Given the description of an element on the screen output the (x, y) to click on. 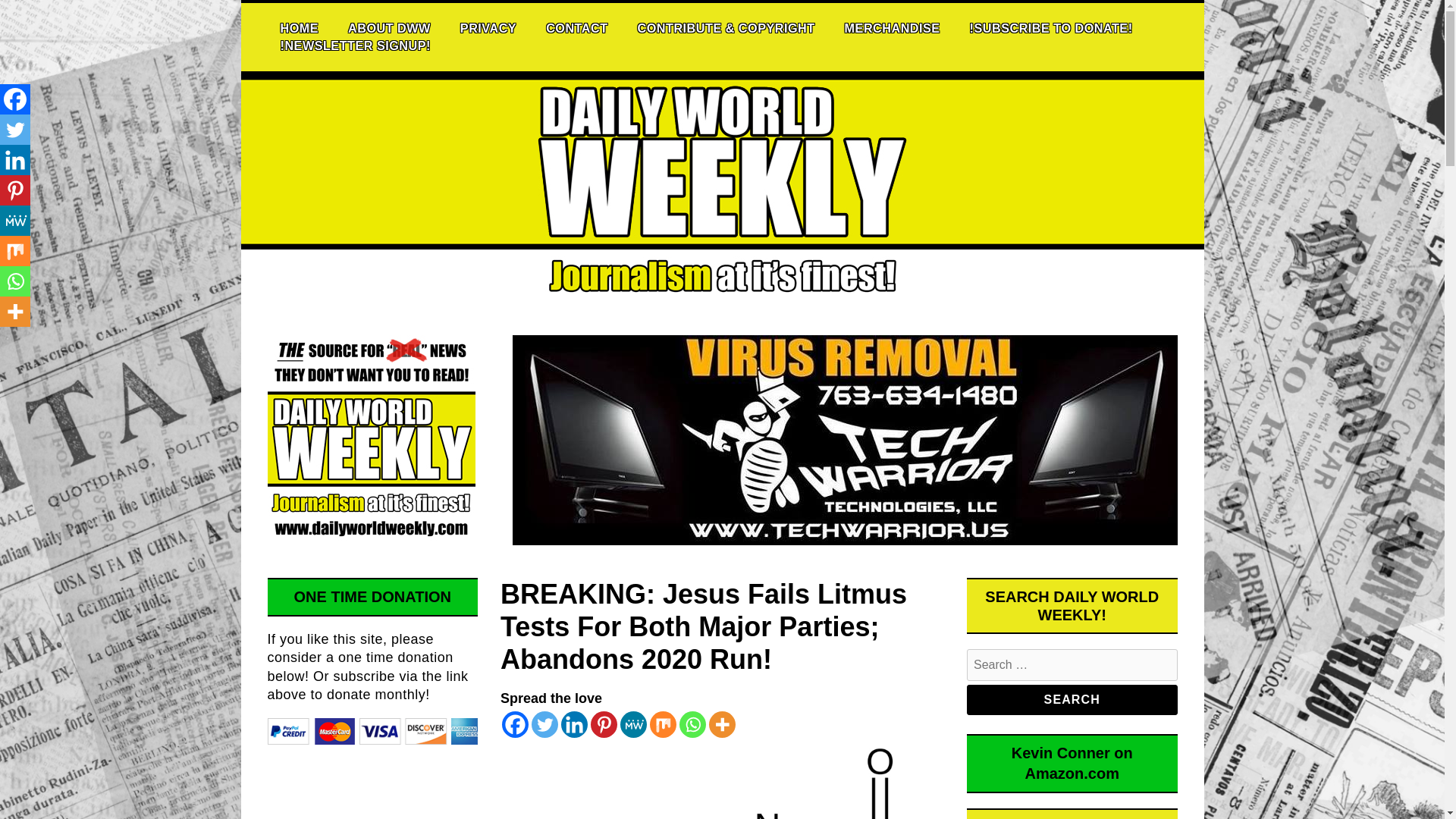
!SUBSCRIBE TO DONATE! (1051, 27)
HOME (298, 27)
Facebook (15, 99)
ABOUT DWW (389, 27)
CONTACT (576, 27)
Twitter (544, 724)
More (722, 724)
Pinterest (604, 724)
Search (1071, 699)
Facebook (515, 724)
